Given the description of an element on the screen output the (x, y) to click on. 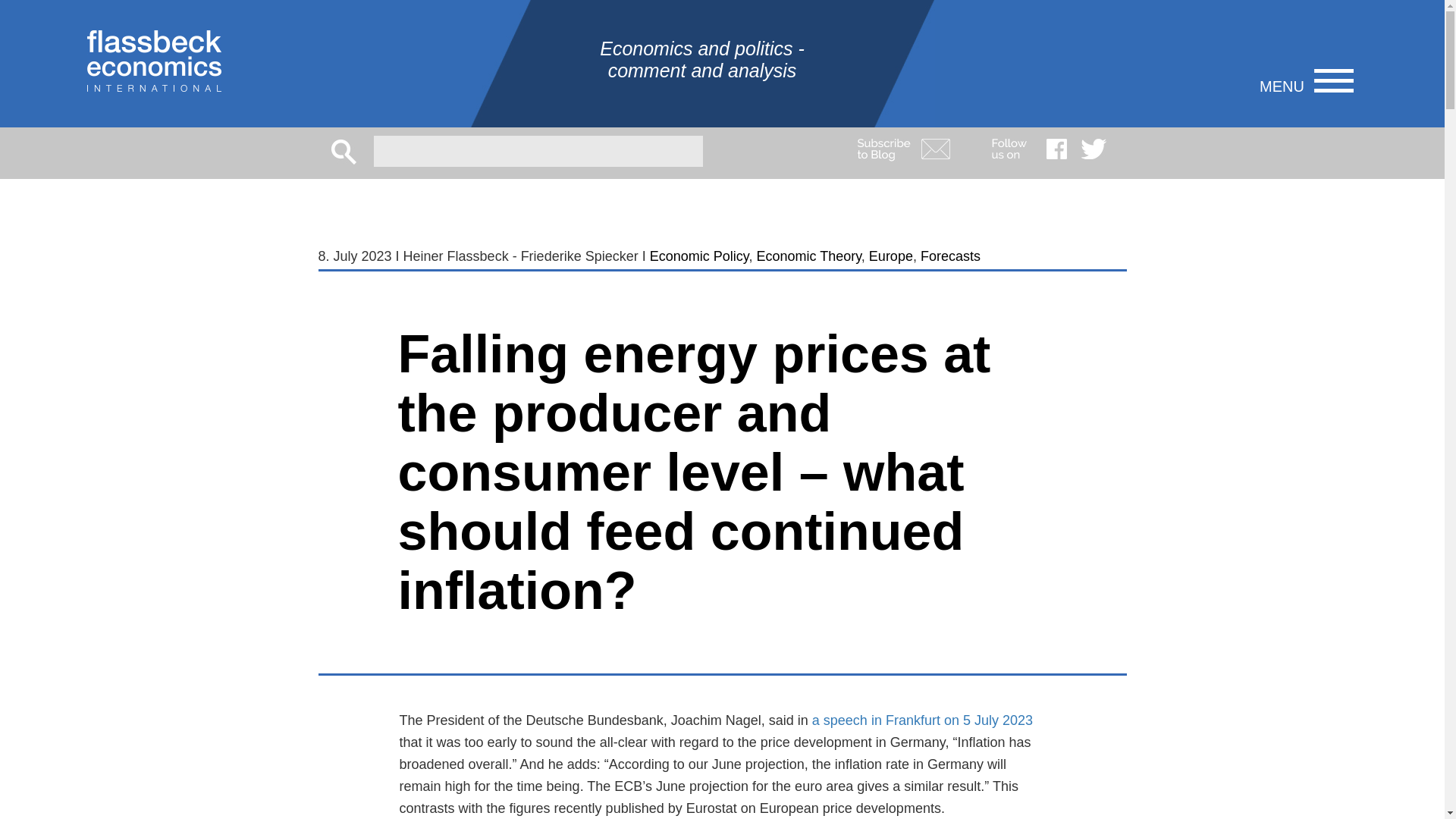
Search (343, 151)
Economic Theory (807, 255)
Europe (890, 255)
Economic Policy (699, 255)
Search for: (538, 151)
Search (343, 151)
MENU (1306, 79)
Follow flassbeck economics international on Twitter (1093, 148)
Search (343, 151)
